Given the description of an element on the screen output the (x, y) to click on. 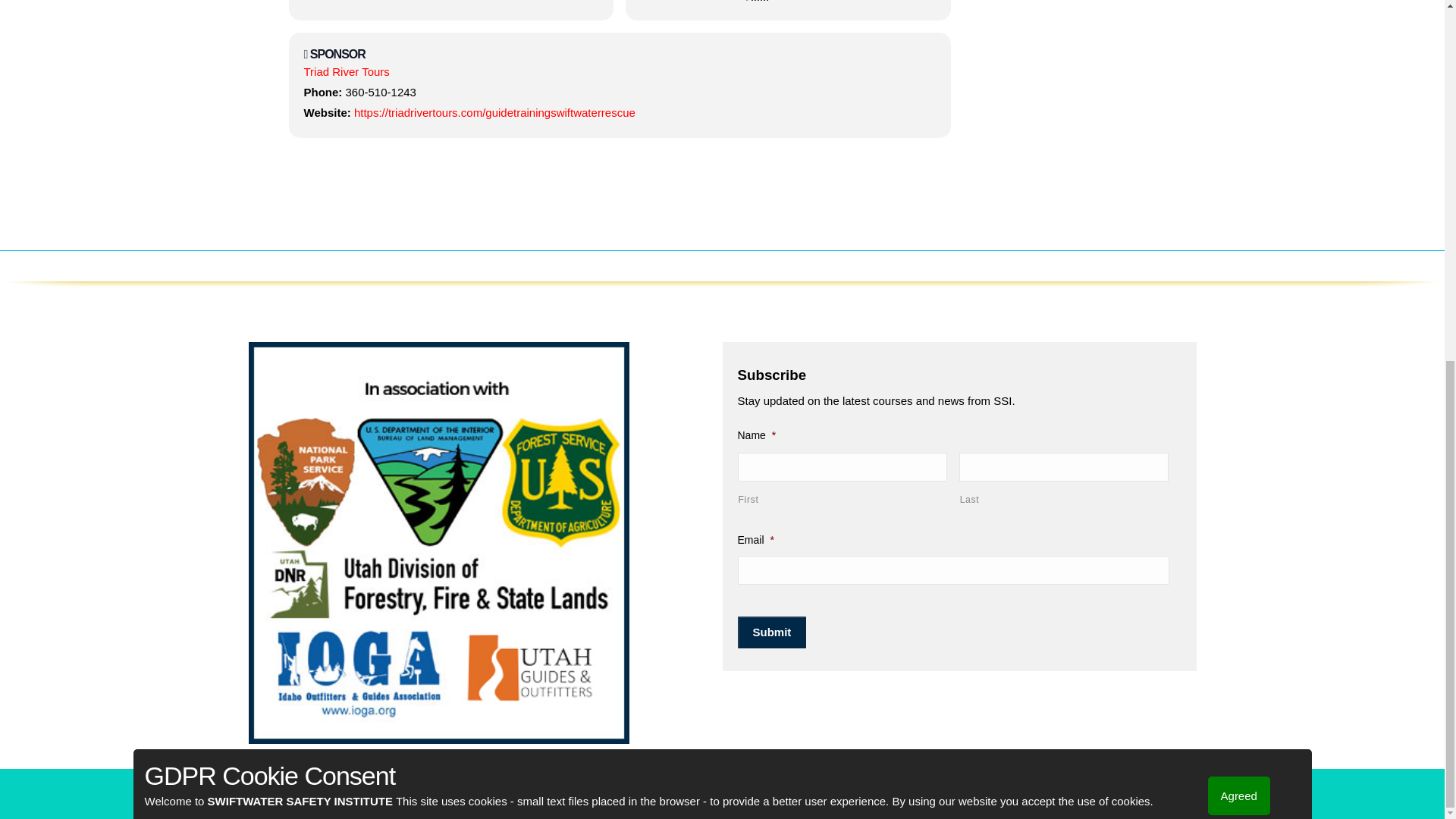
Triad River Tours (345, 71)
Submit (771, 632)
